Given the description of an element on the screen output the (x, y) to click on. 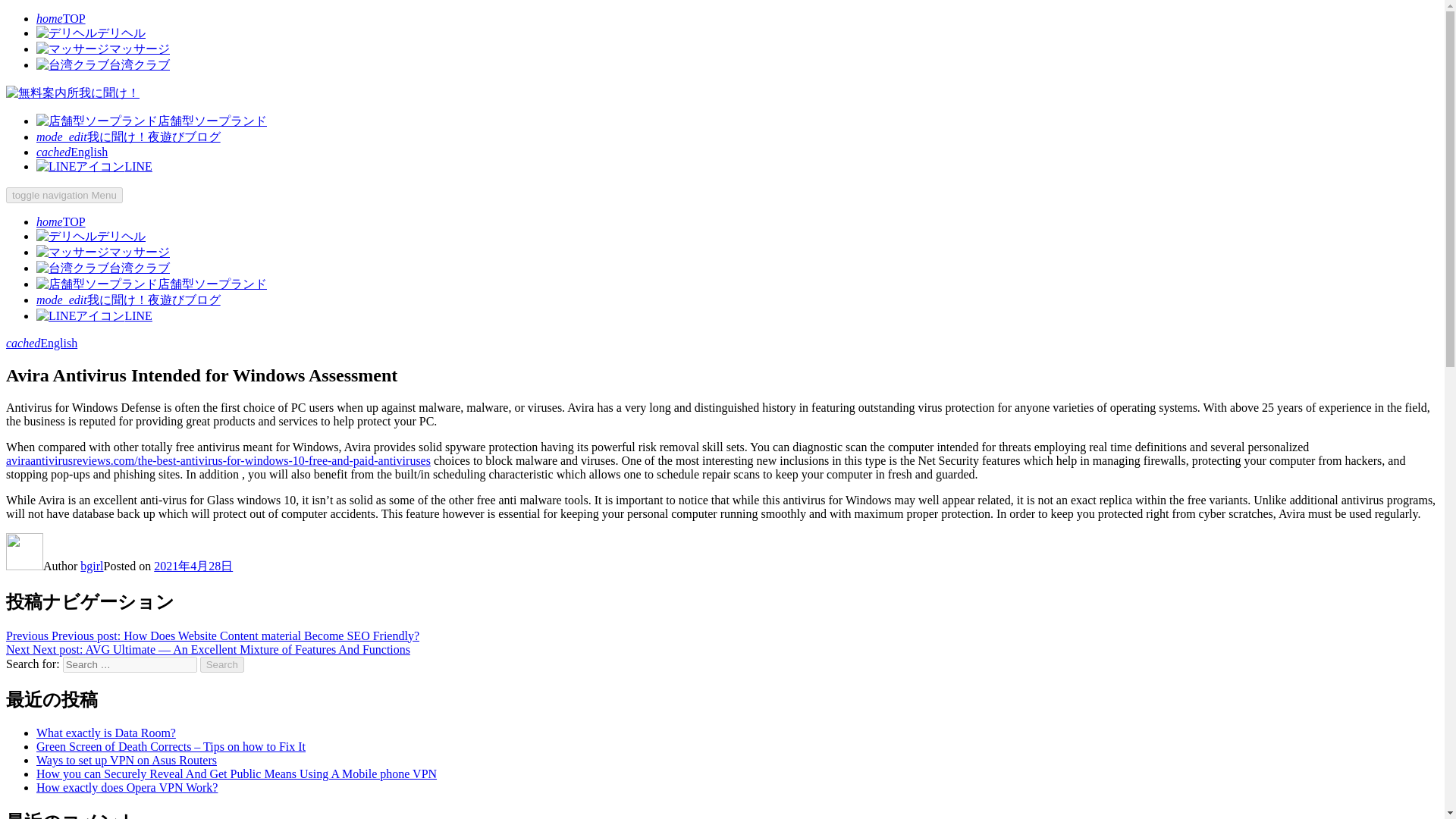
bgirl (91, 565)
cachedEnglish (71, 151)
cachedEnglish (41, 342)
LINE (94, 315)
homeTOP (60, 221)
Search (222, 664)
toggle navigation Menu (63, 195)
What exactly is Data Room? (106, 732)
Ways to set up VPN on Asus Routers (126, 759)
homeTOP (60, 18)
